Given the description of an element on the screen output the (x, y) to click on. 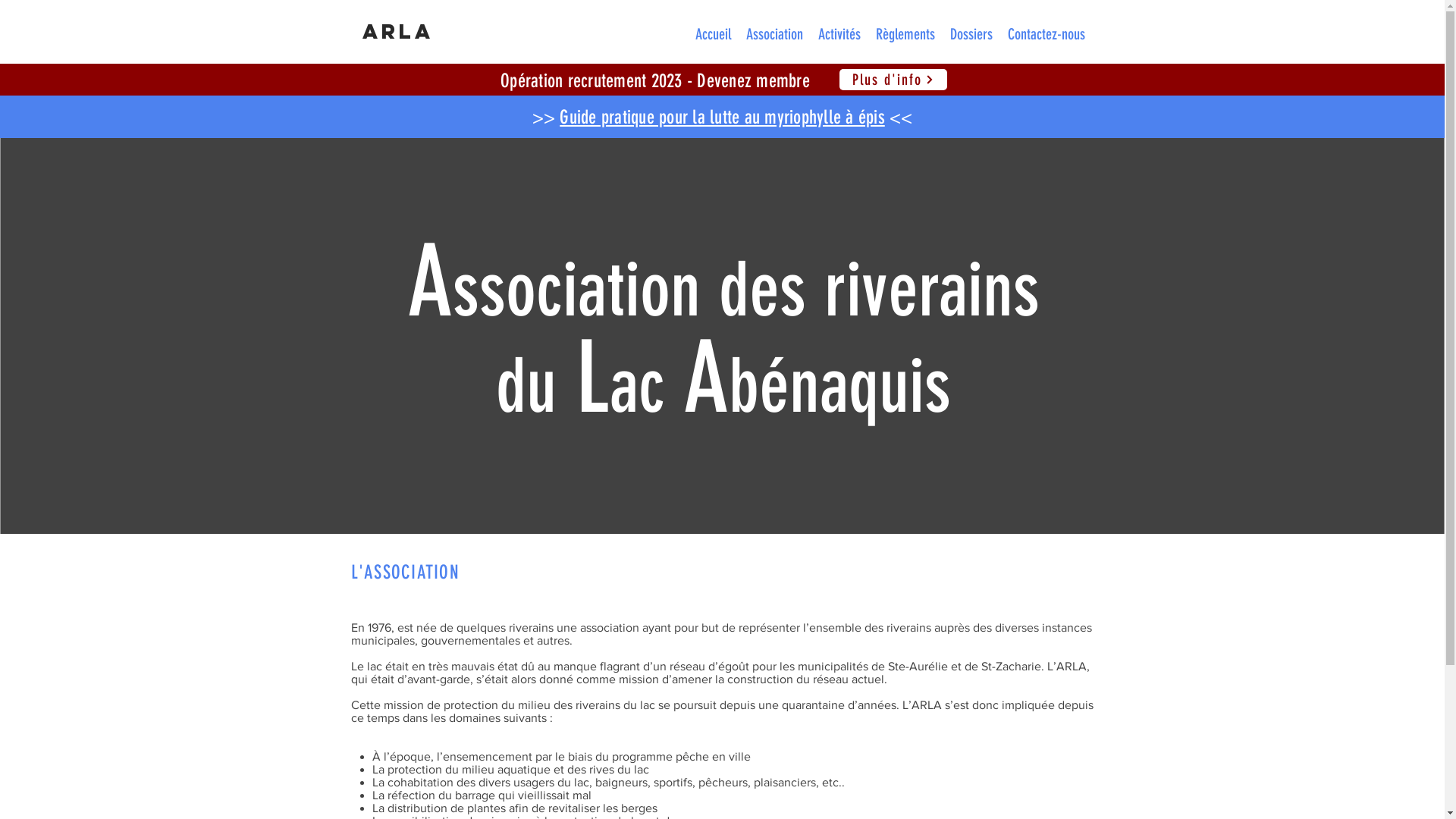
Accueil Element type: text (712, 34)
ARLA Element type: text (397, 32)
Plus d'info Element type: text (892, 79)
Contactez-nous Element type: text (1045, 34)
